Given the description of an element on the screen output the (x, y) to click on. 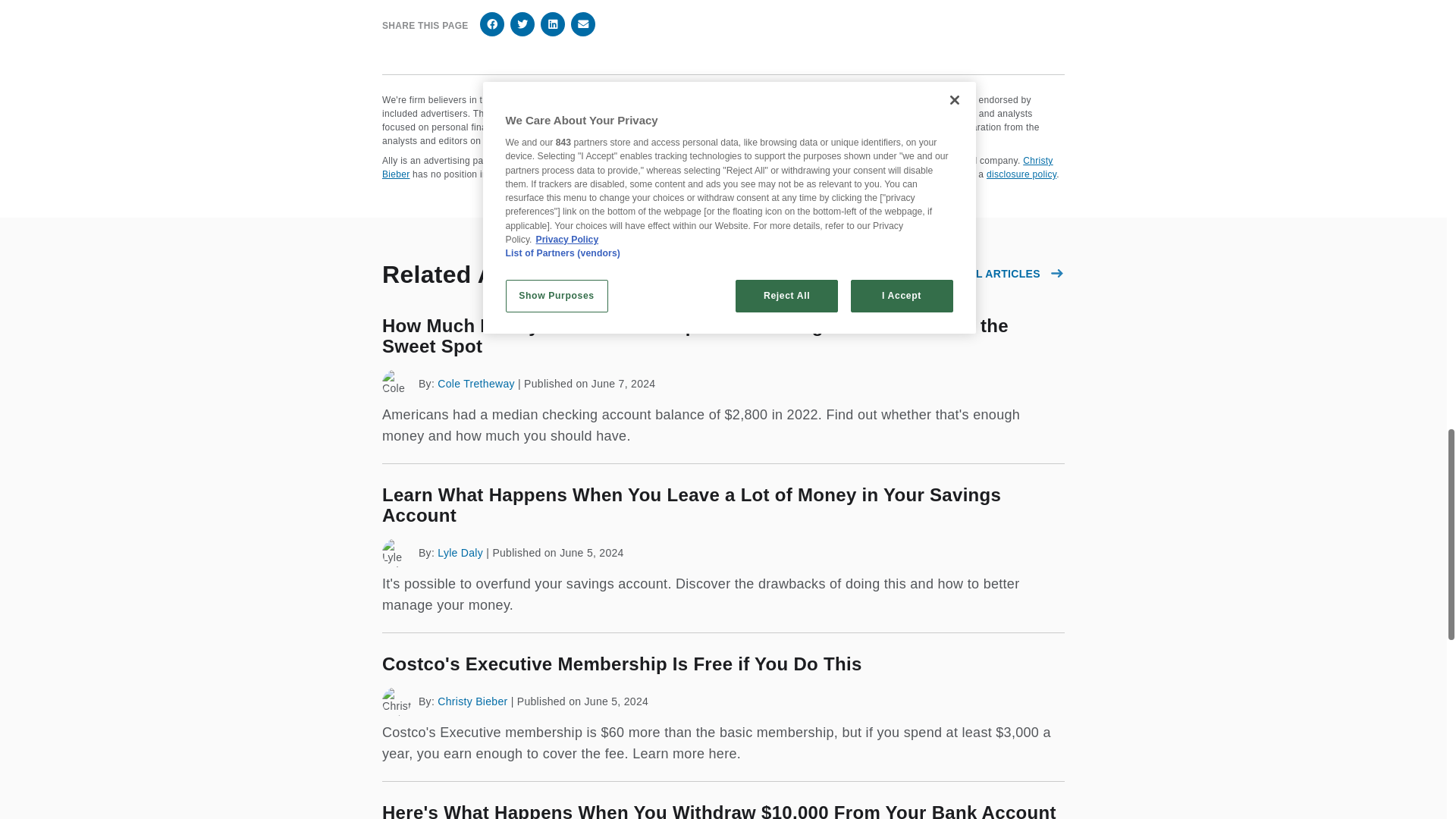
Email Icon Share this website with email (582, 24)
Blue Twitter Icon Share this website with Twitter (522, 24)
